Given the description of an element on the screen output the (x, y) to click on. 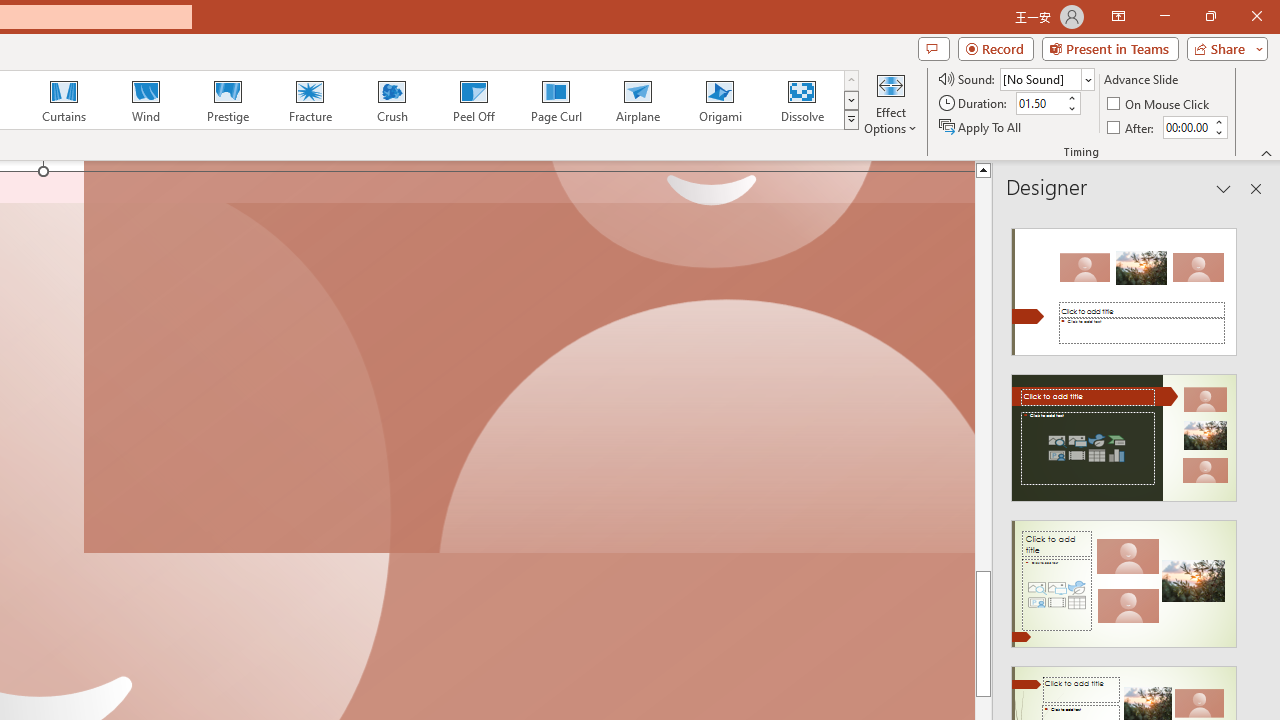
Effect Options (890, 102)
Curtains (63, 100)
Wind (145, 100)
Page Curl (555, 100)
Peel Off (473, 100)
Fracture (309, 100)
Crush (391, 100)
